Given the description of an element on the screen output the (x, y) to click on. 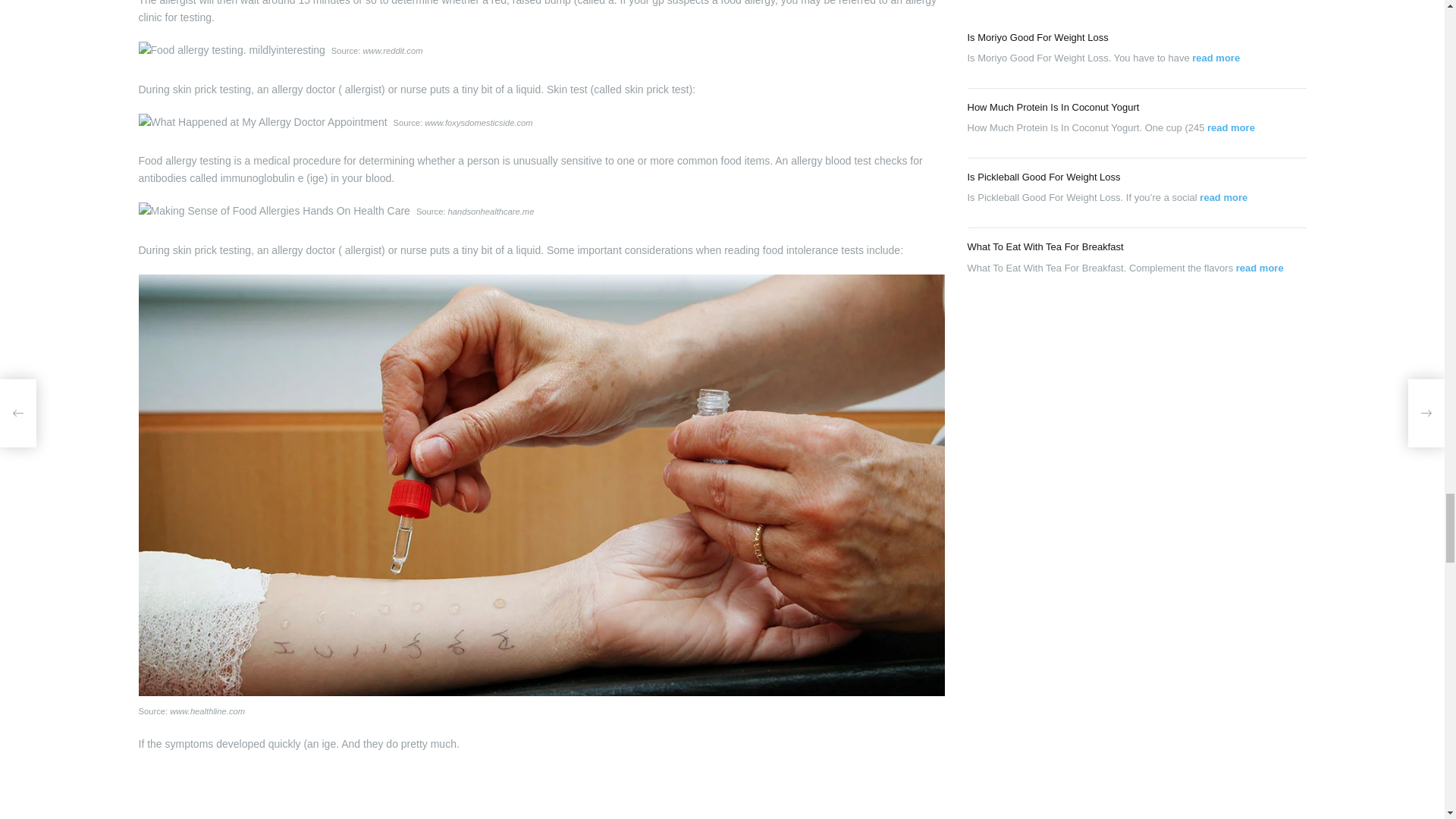
What Food Allergies Do They Test For 47 (273, 210)
What Food Allergies Do They Test For 46 (262, 121)
What Food Allergies Do They Test For 45 (231, 49)
What Food Allergies Do They Test For 49 (540, 793)
